Given the description of an element on the screen output the (x, y) to click on. 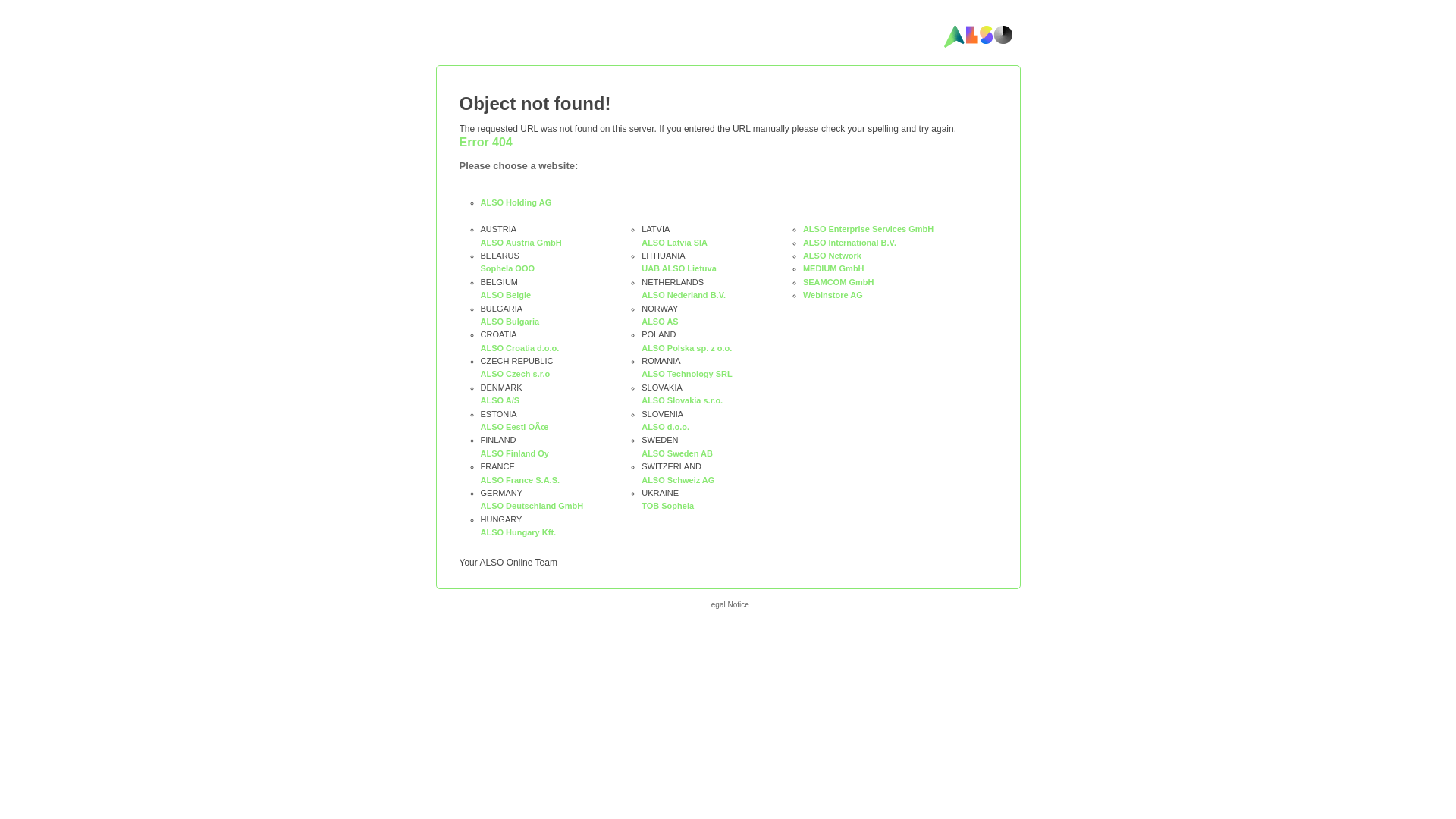
ALSO Schweiz AG Element type: text (677, 479)
SEAMCOM GmbH Element type: text (838, 281)
ALSO Holding AG Element type: text (516, 202)
ALSO Latvia SIA Element type: text (674, 242)
ALSO Network Element type: text (832, 255)
ALSO France S.A.S. Element type: text (520, 479)
ALSO Finland Oy Element type: text (514, 453)
ALSO International B.V. Element type: text (849, 242)
ALSO Belgie Element type: text (505, 294)
ALSO Austria GmbH Element type: text (520, 242)
ALSO Czech s.r.o Element type: text (515, 373)
ALSO d.o.o. Element type: text (665, 426)
ALSO Enterprise Services GmbH Element type: text (868, 228)
ALSO AS Element type: text (659, 321)
TOB Sophela Element type: text (667, 505)
ALSO A/S Element type: text (500, 399)
ALSO Deutschland GmbH Element type: text (531, 505)
ALSO Technology SRL Element type: text (686, 373)
ALSO Nederland B.V. Element type: text (683, 294)
ALSO Sweden AB Element type: text (676, 453)
ALSO Hungary Kft. Element type: text (518, 531)
ALSO Slovakia s.r.o. Element type: text (681, 399)
ALSO Croatia d.o.o. Element type: text (519, 347)
MEDIUM GmbH Element type: text (833, 268)
Sophela OOO Element type: text (507, 268)
Webinstore AG Element type: text (832, 294)
UAB ALSO Lietuva Element type: text (678, 268)
Legal Notice Element type: text (727, 604)
ALSO Polska sp. z o.o. Element type: text (686, 347)
ALSO Bulgaria Element type: text (509, 321)
